Given the description of an element on the screen output the (x, y) to click on. 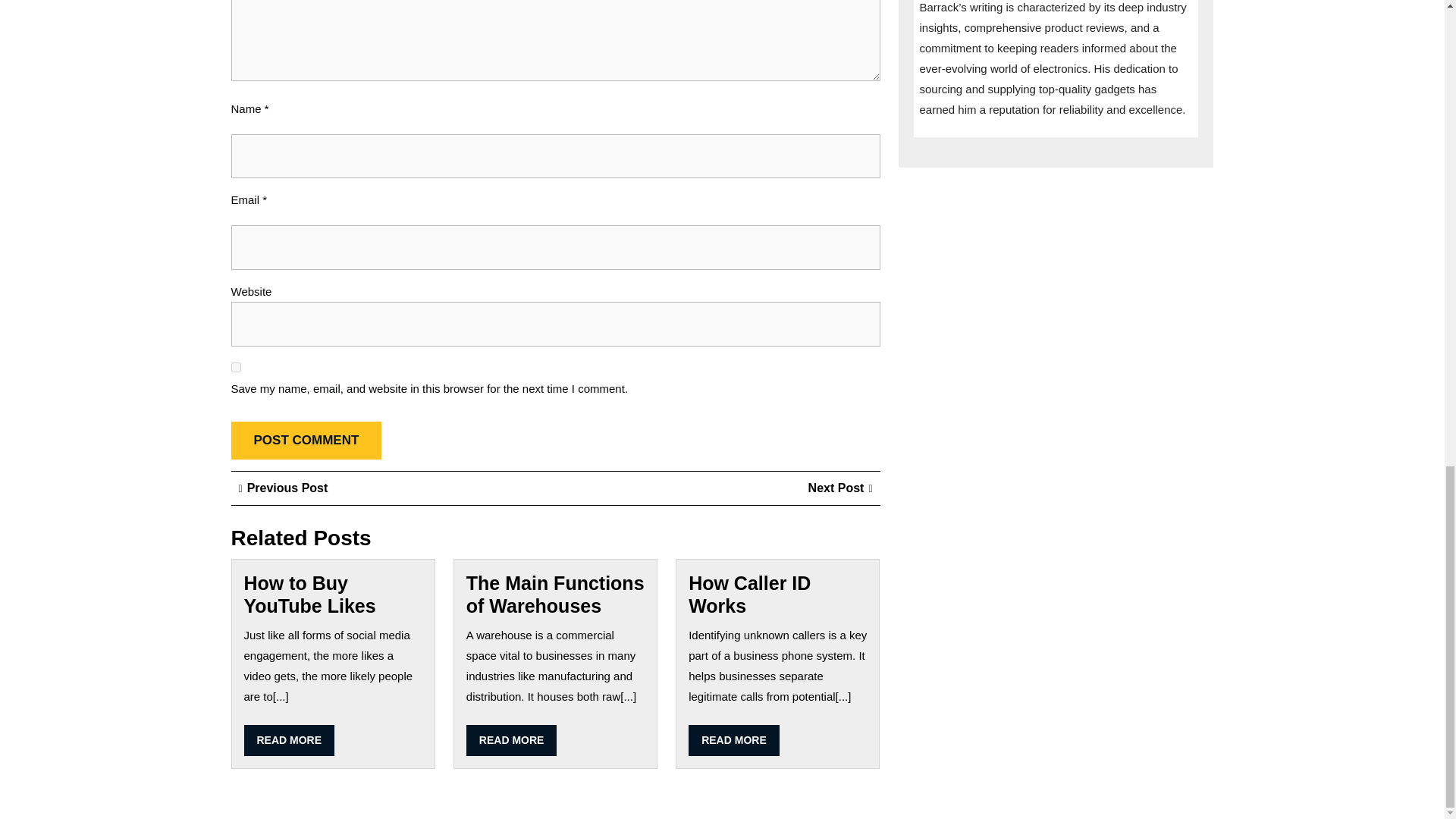
Post Comment (305, 440)
Post Comment (305, 440)
yes (282, 487)
The Main Functions of Warehouses (840, 487)
How Caller ID Works (235, 367)
